Given the description of an element on the screen output the (x, y) to click on. 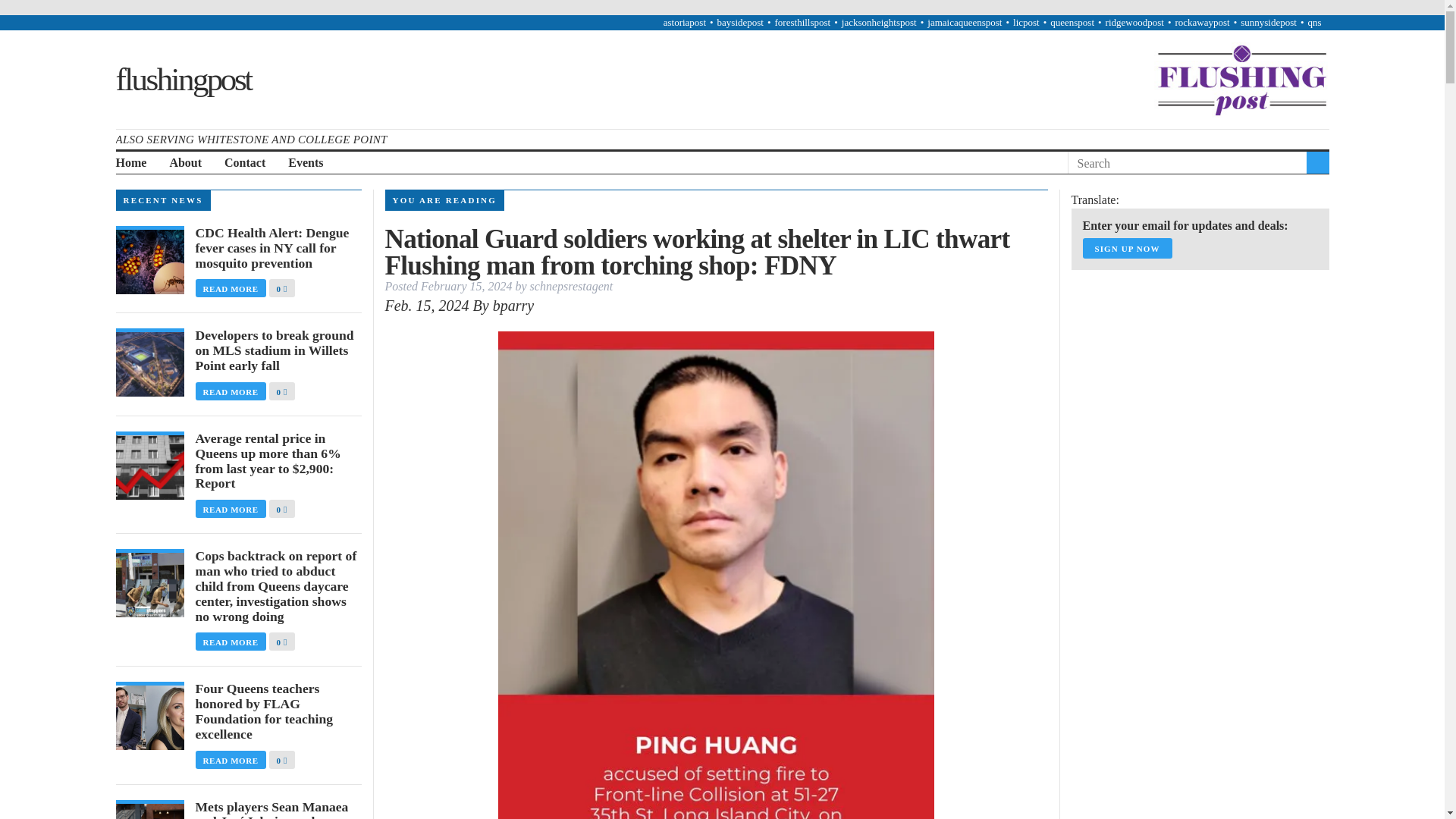
Home (131, 163)
3rd party ad content (1184, 372)
ridgewoodpost (1134, 21)
flushingpost (182, 78)
3rd party ad content (1184, 578)
sunnysidepost (1268, 21)
jacksonheightspost (879, 21)
licpost (1026, 21)
Contact (244, 163)
READ MORE (232, 287)
About (185, 163)
astoriapost (684, 21)
Events (305, 163)
foresthillspost (802, 21)
